Given the description of an element on the screen output the (x, y) to click on. 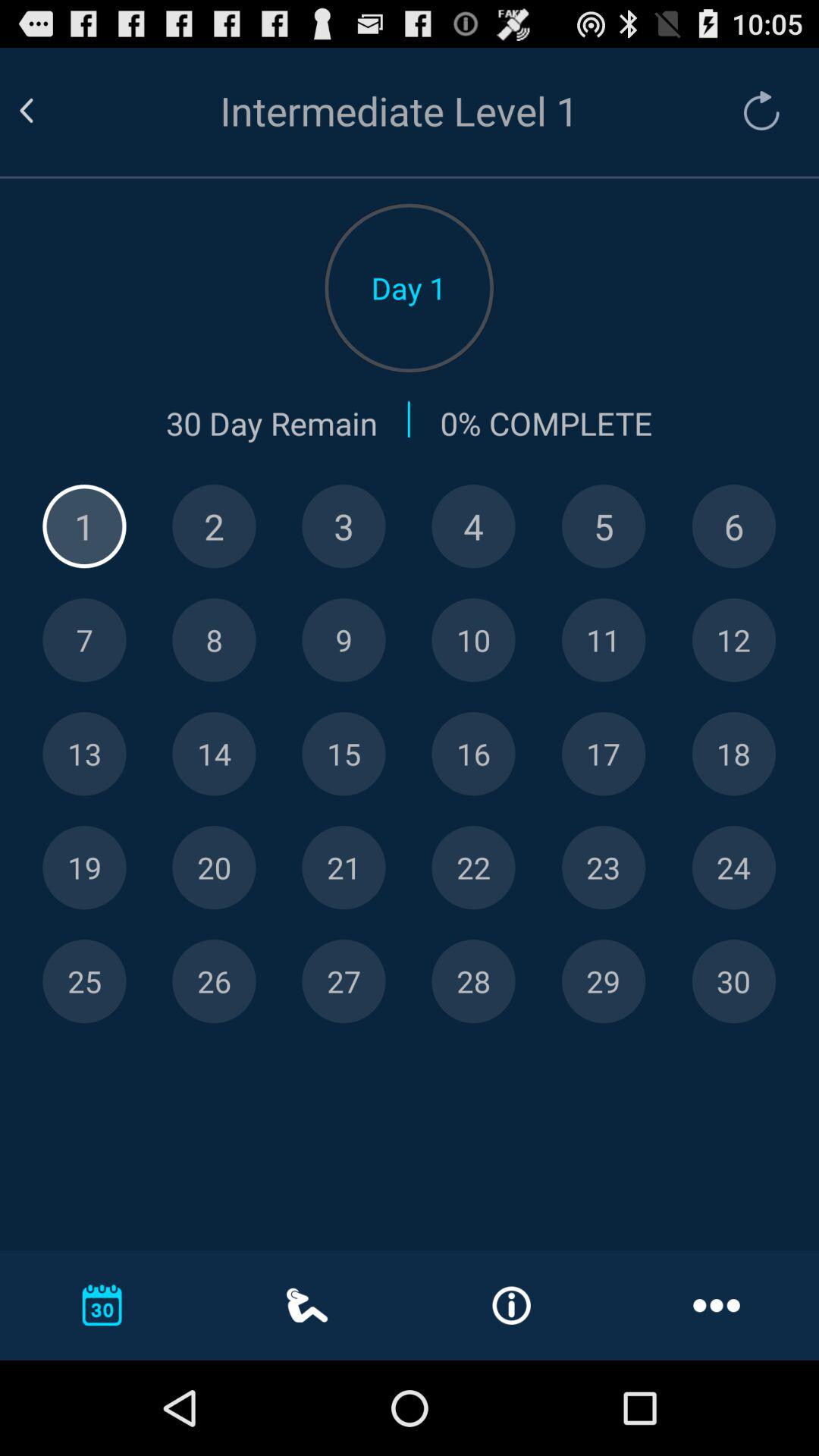
select number twenty-two (473, 867)
